Given the description of an element on the screen output the (x, y) to click on. 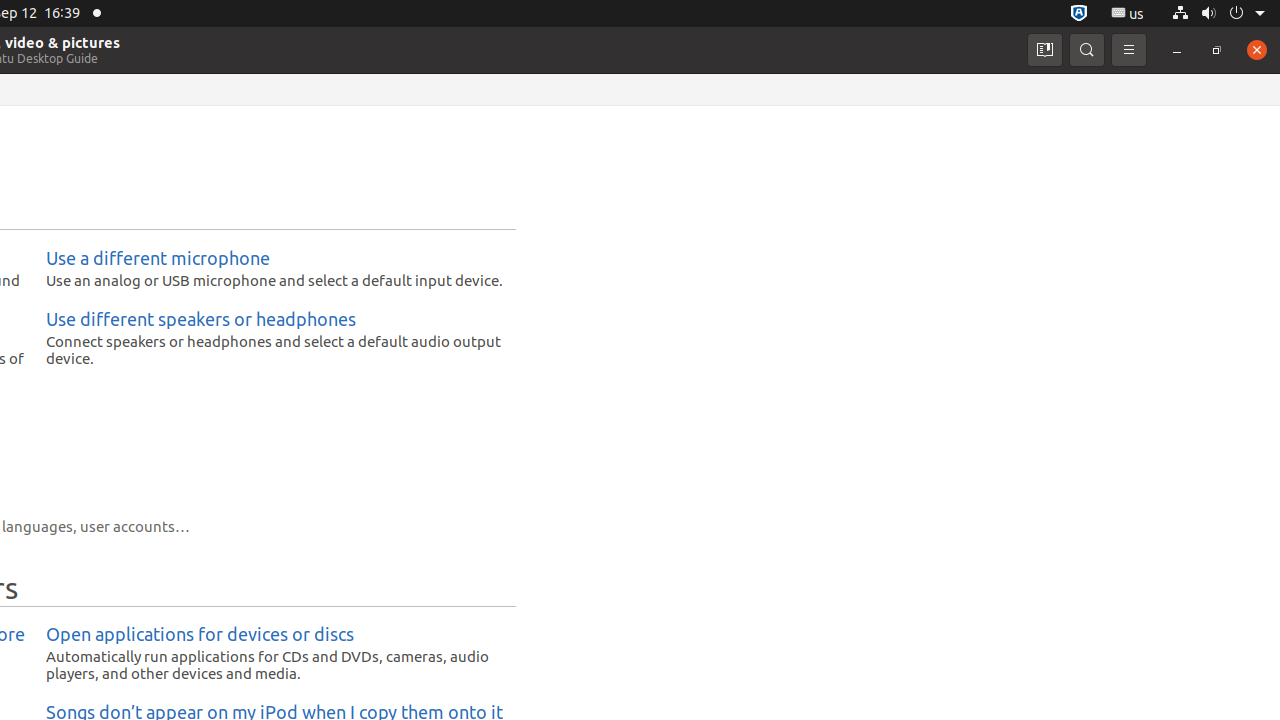
Open applications for devices or discs Automatically run applications for CDs and DVDs, cameras, audio players, and other devices and media. Element type: link (276, 653)
Use different speakers or headphones Connect speakers or headphones and select a default audio output device. Element type: link (276, 337)
Restore Element type: push-button (1217, 50)
